Given the description of an element on the screen output the (x, y) to click on. 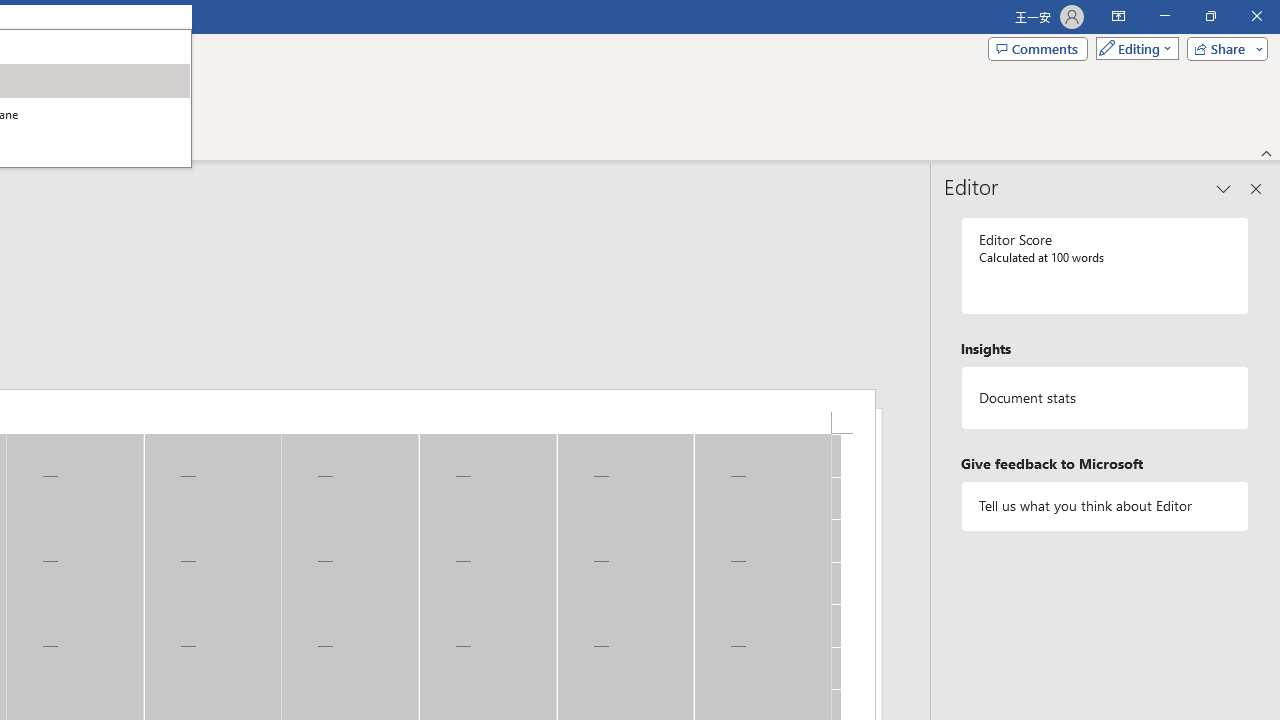
Tell us what you think about Editor (1105, 506)
More Options (35, 121)
Minimize (1164, 16)
Share (1223, 48)
